Given the description of an element on the screen output the (x, y) to click on. 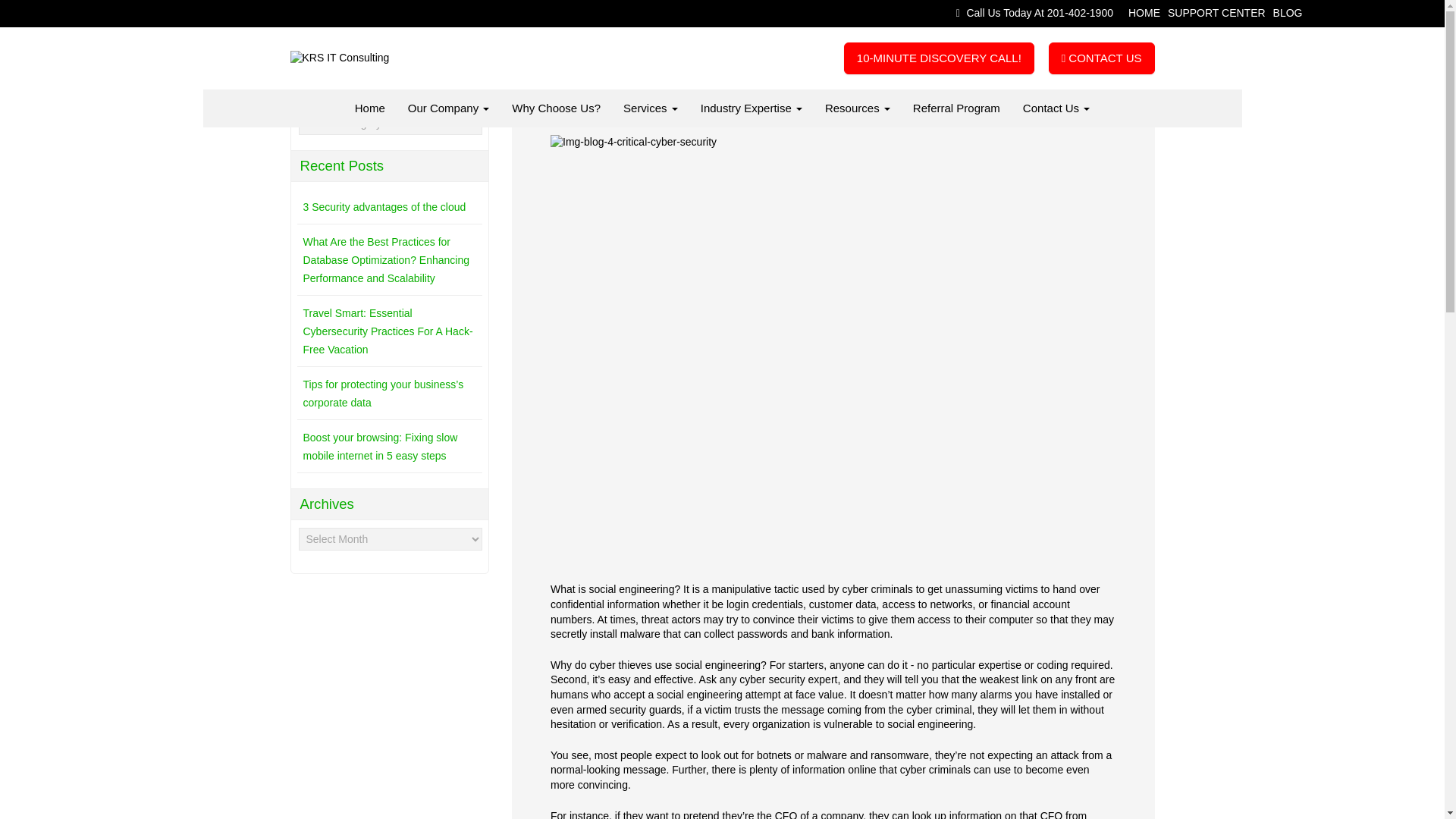
Posts by KRS IT Consulting (697, 96)
Services (650, 108)
Why Choose Us? (555, 108)
BLOG (1287, 12)
10-MINUTE DISCOVERY CALL! (938, 58)
HOME (1144, 12)
SUPPORT CENTER (1216, 12)
CONTACT US (1101, 58)
Home (370, 108)
Our Company (448, 108)
Industry Expertise (751, 108)
